Given the description of an element on the screen output the (x, y) to click on. 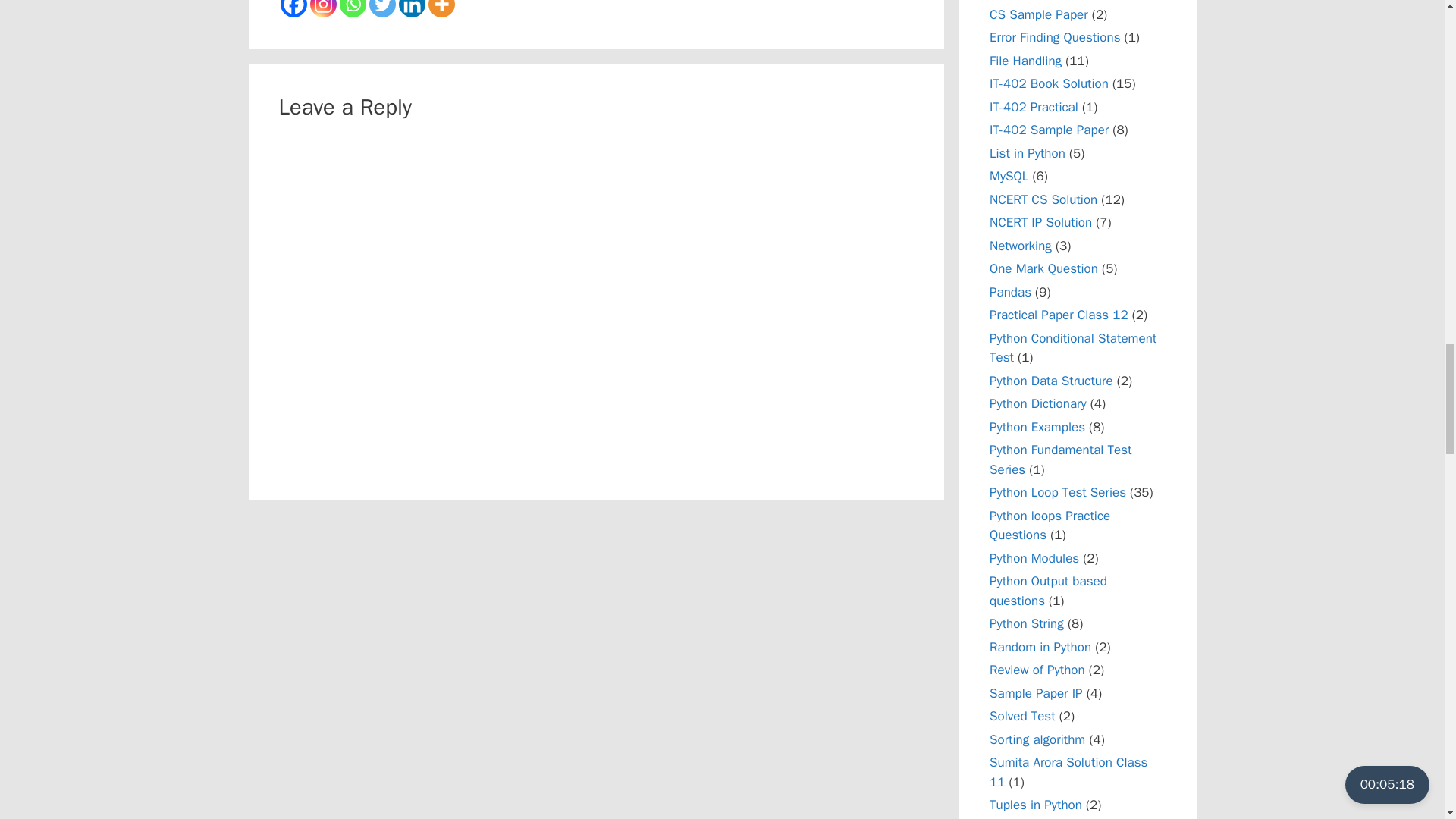
Facebook (294, 8)
Whatsapp (352, 8)
Instagram (322, 8)
